Given the description of an element on the screen output the (x, y) to click on. 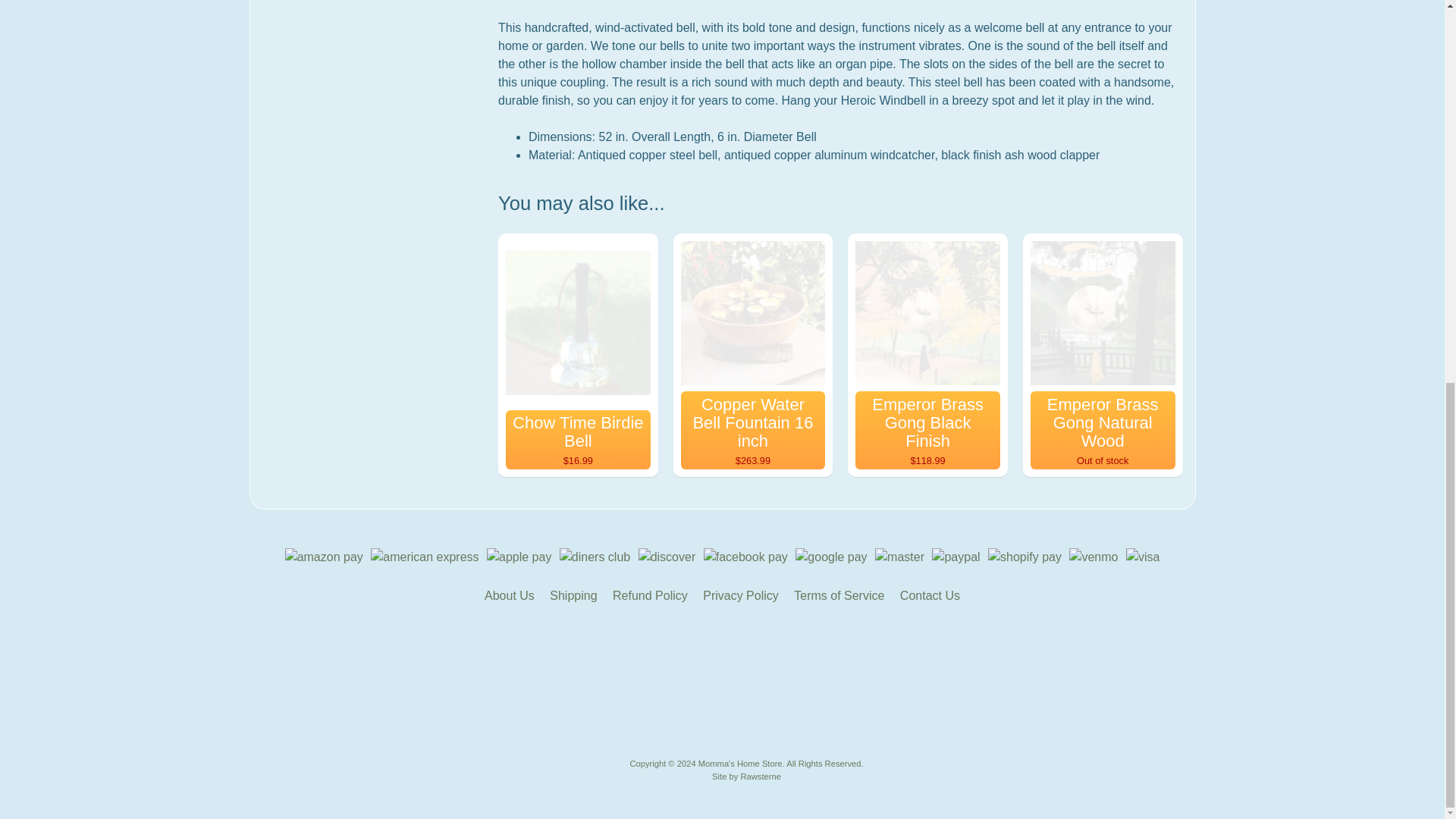
Shopify theme by Rawsterne (745, 776)
